Given the description of an element on the screen output the (x, y) to click on. 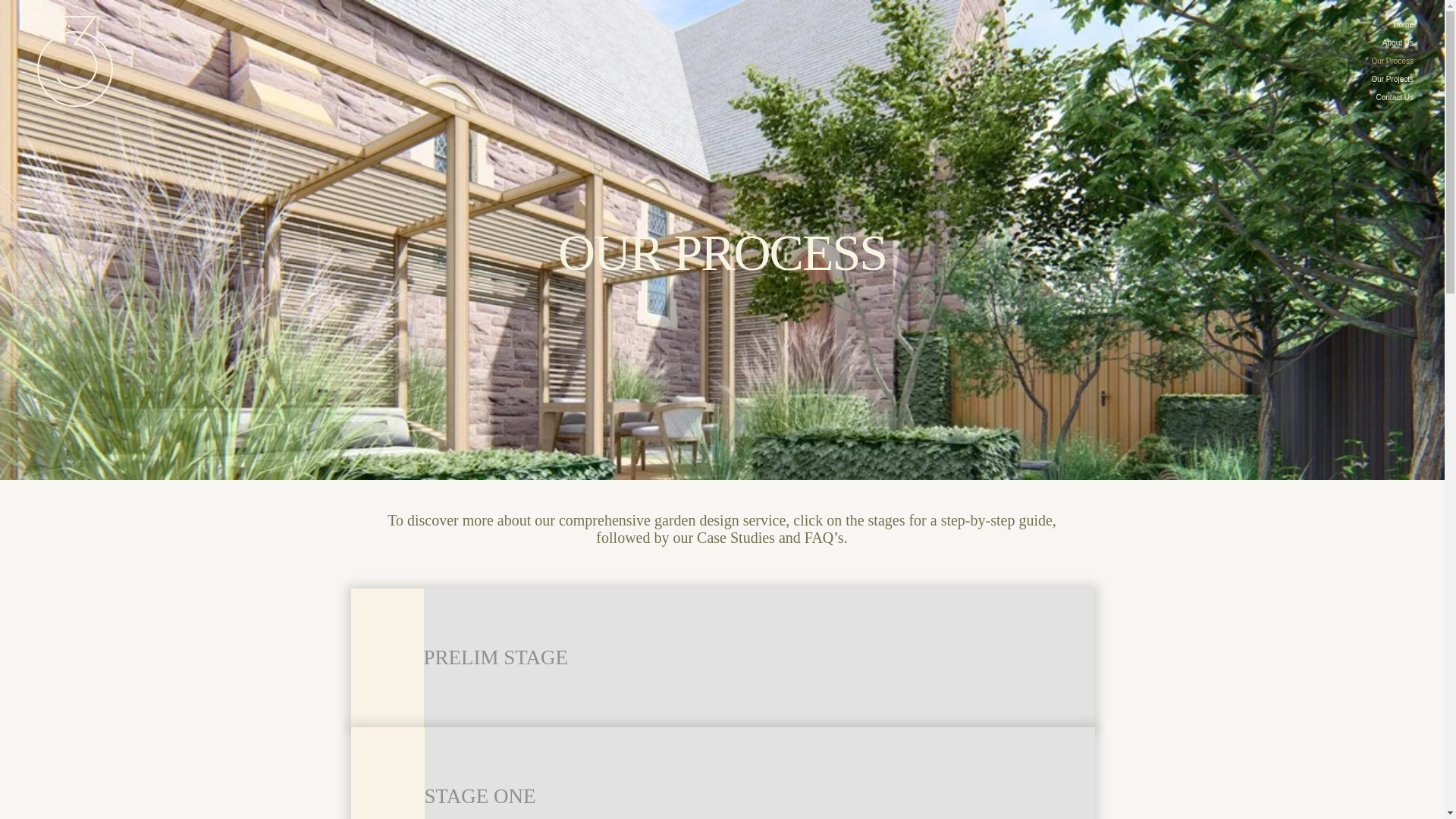
Our Process (1386, 61)
PRELIM STAGE (758, 657)
About Us (1386, 43)
Our Projects (1386, 79)
Home (1386, 24)
Contact Us (1386, 97)
STAGE ONE (759, 773)
